Given the description of an element on the screen output the (x, y) to click on. 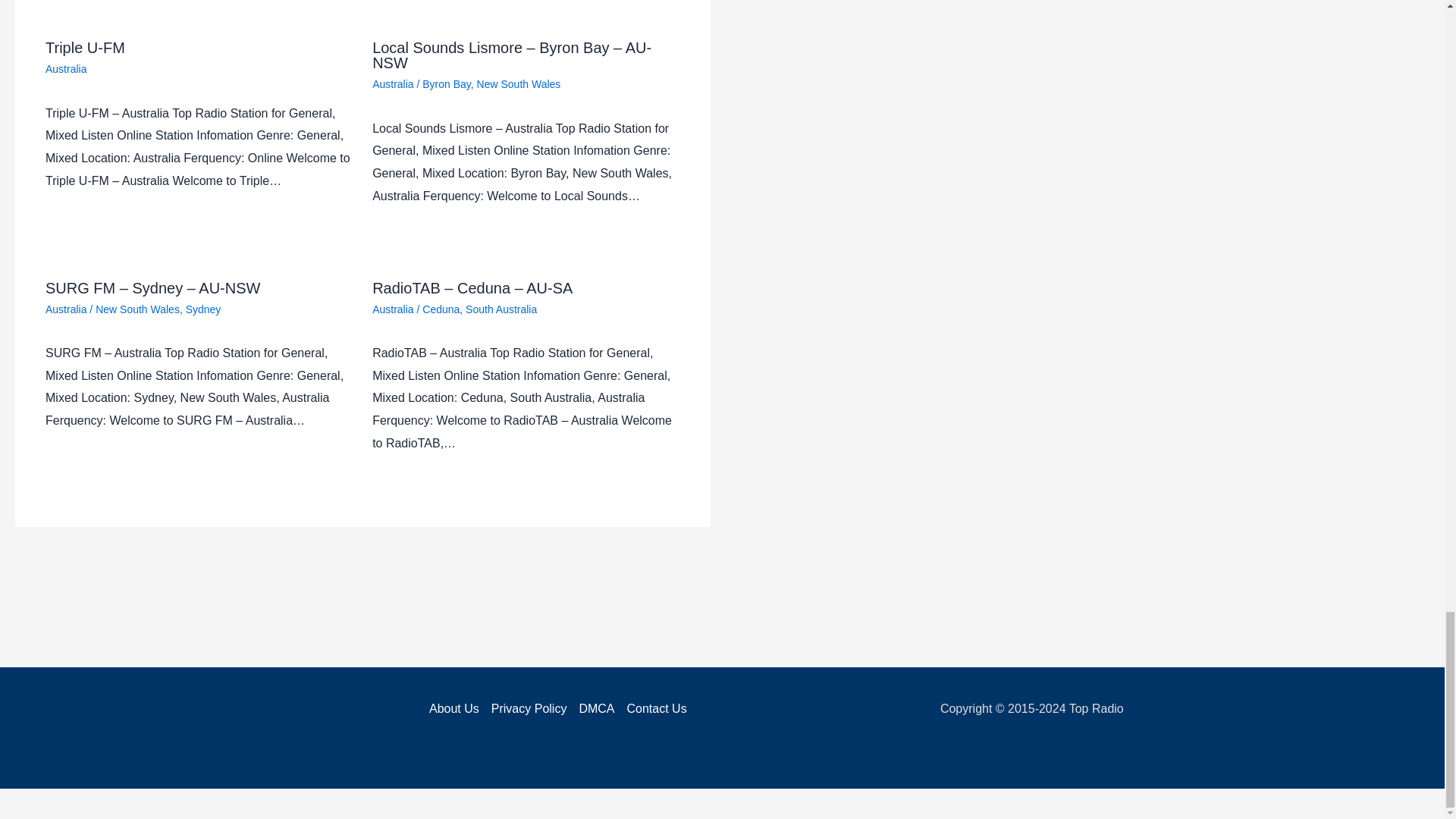
Australia (65, 69)
Triple U-FM (85, 47)
Byron Bay (446, 83)
Australia (392, 83)
